Given the description of an element on the screen output the (x, y) to click on. 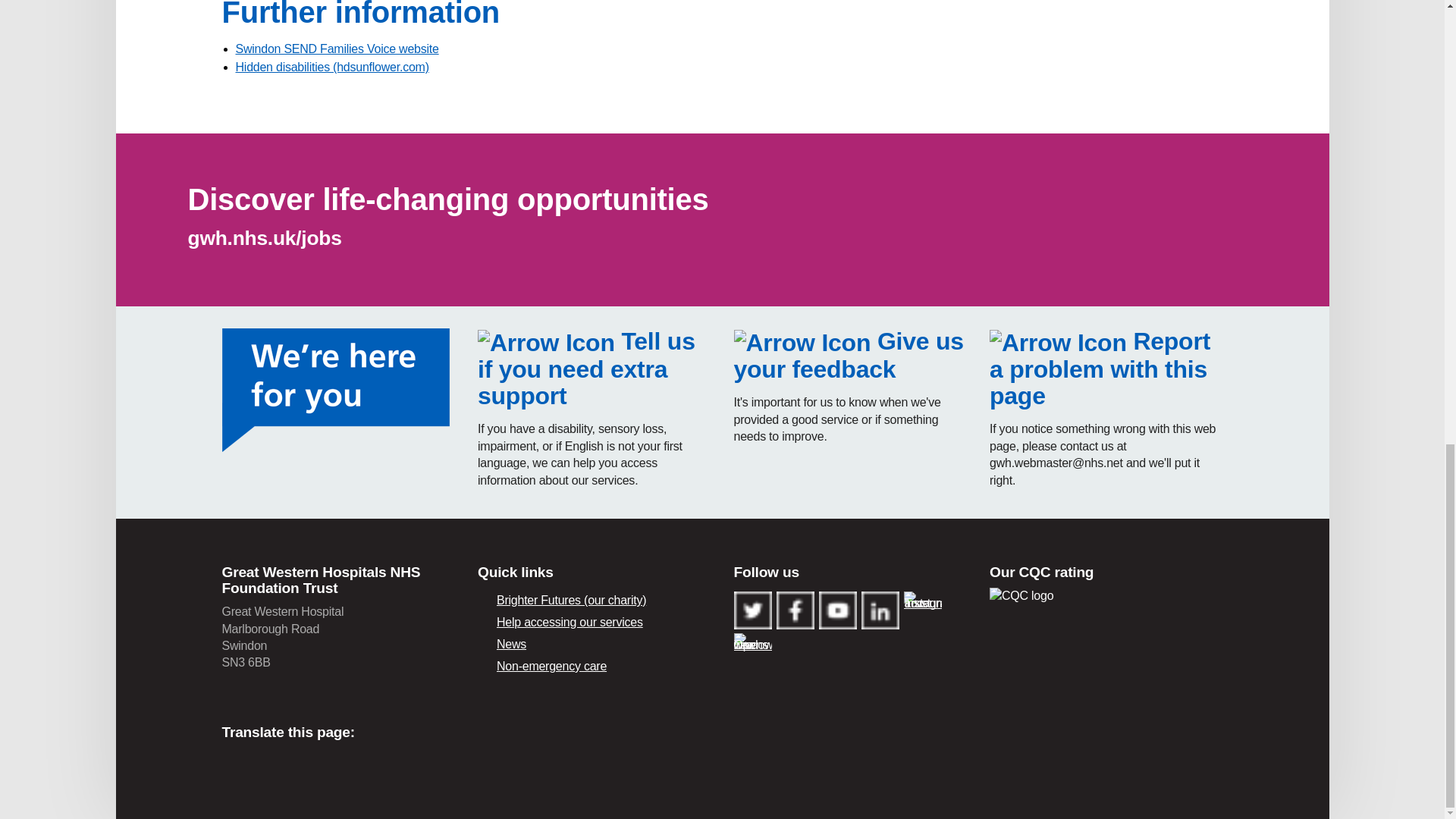
Help accessing our services (594, 622)
 Report a problem with this page (1099, 368)
Non-emergency care (594, 666)
Discover Great Opportunities (264, 237)
Swindon SEND Families Voice website (336, 48)
Discover life-changing opportunities (448, 199)
Feedback (848, 355)
Help accessing our services (586, 368)
Opens in a new window (336, 48)
Tell us if you need extra support (586, 368)
News (594, 644)
Discover Great Opportunities (448, 199)
Give us your feedback (848, 355)
